Given the description of an element on the screen output the (x, y) to click on. 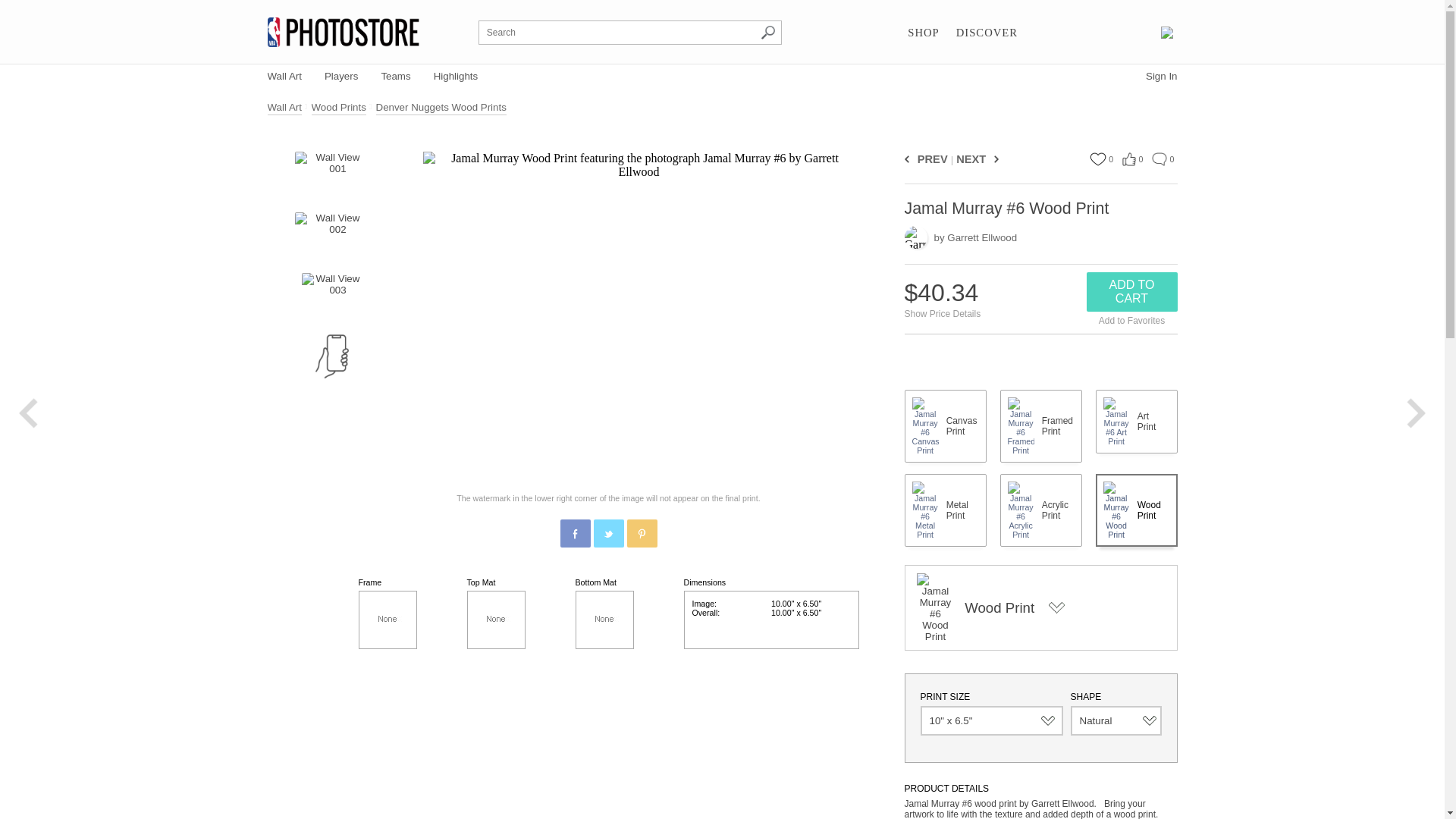
Share Product on Pinterest (641, 533)
Wall View 002 (331, 234)
Twitter (609, 533)
DISCOVER (987, 32)
Favorite (1097, 159)
Comment (1158, 159)
Wall View 003 (331, 295)
NBA Photo Store (342, 31)
SHOP (922, 32)
Facebook (575, 533)
